Given the description of an element on the screen output the (x, y) to click on. 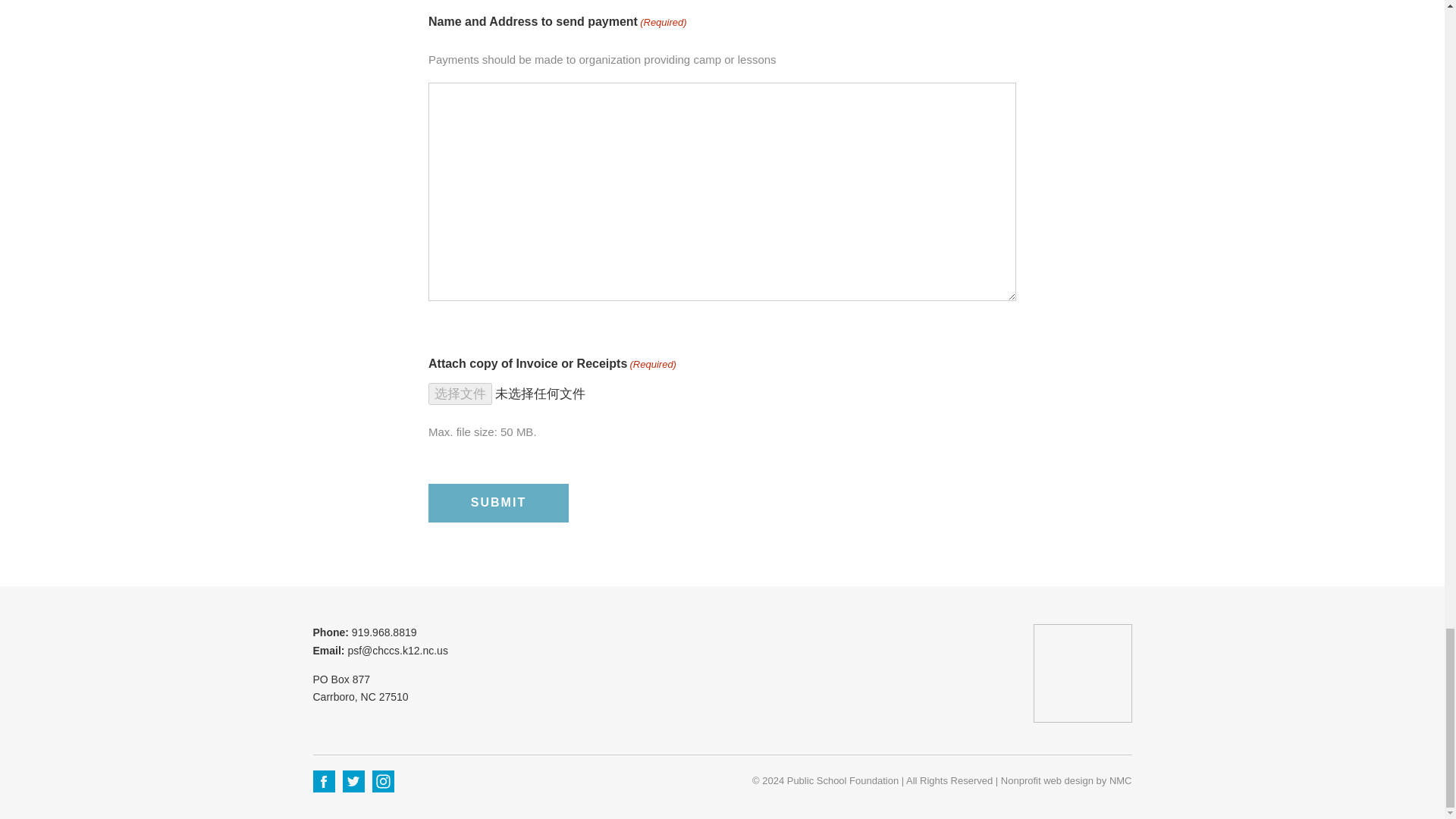
Submit (498, 503)
Nonprofit web design (1047, 780)
Submit (498, 503)
